Given the description of an element on the screen output the (x, y) to click on. 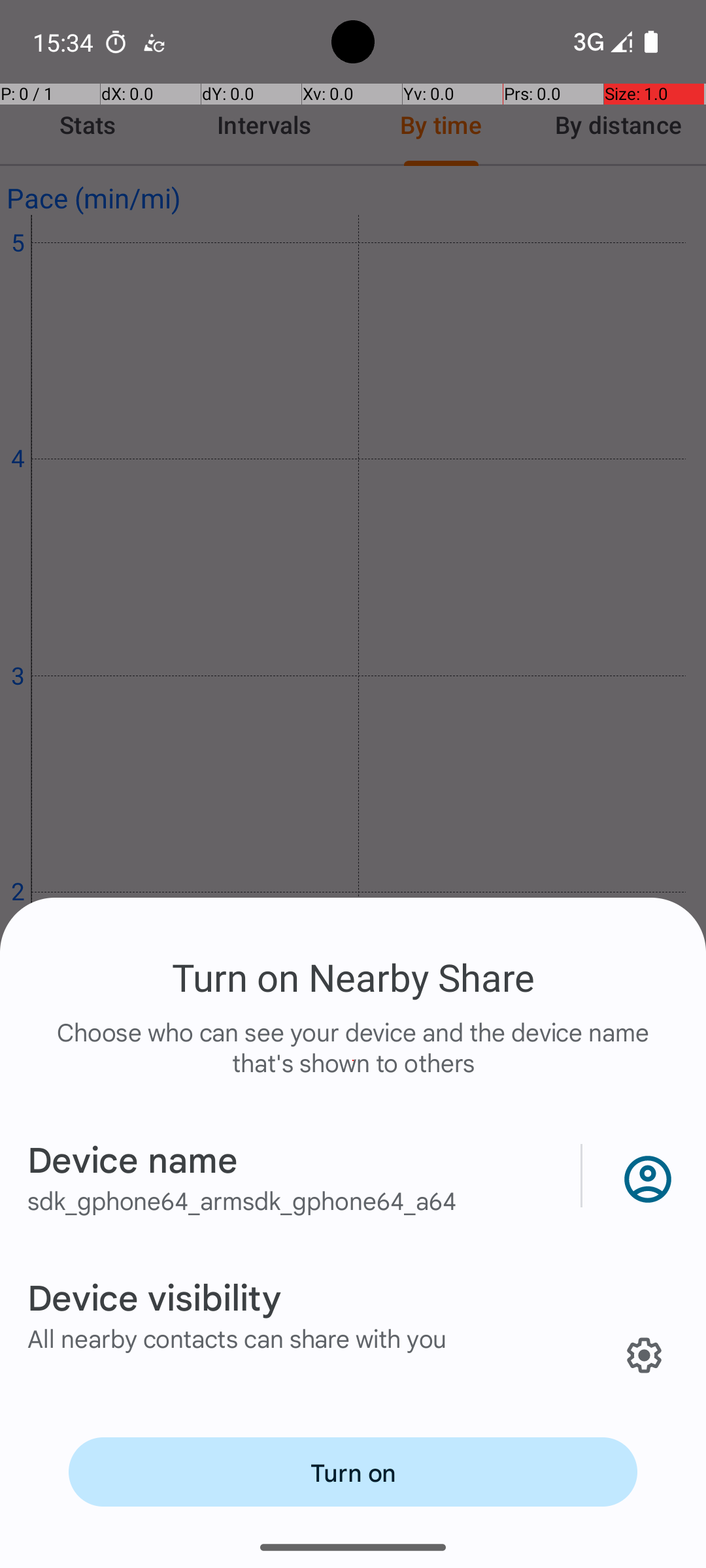
Turn on Nearby Share Element type: android.widget.TextView (353, 976)
Choose who can see your device and the device name that's shown to others Element type: android.widget.TextView (353, 1060)
sdk_gphone64_armsdk_gphone64_a64 Element type: android.widget.TextView (241, 1200)
